Given the description of an element on the screen output the (x, y) to click on. 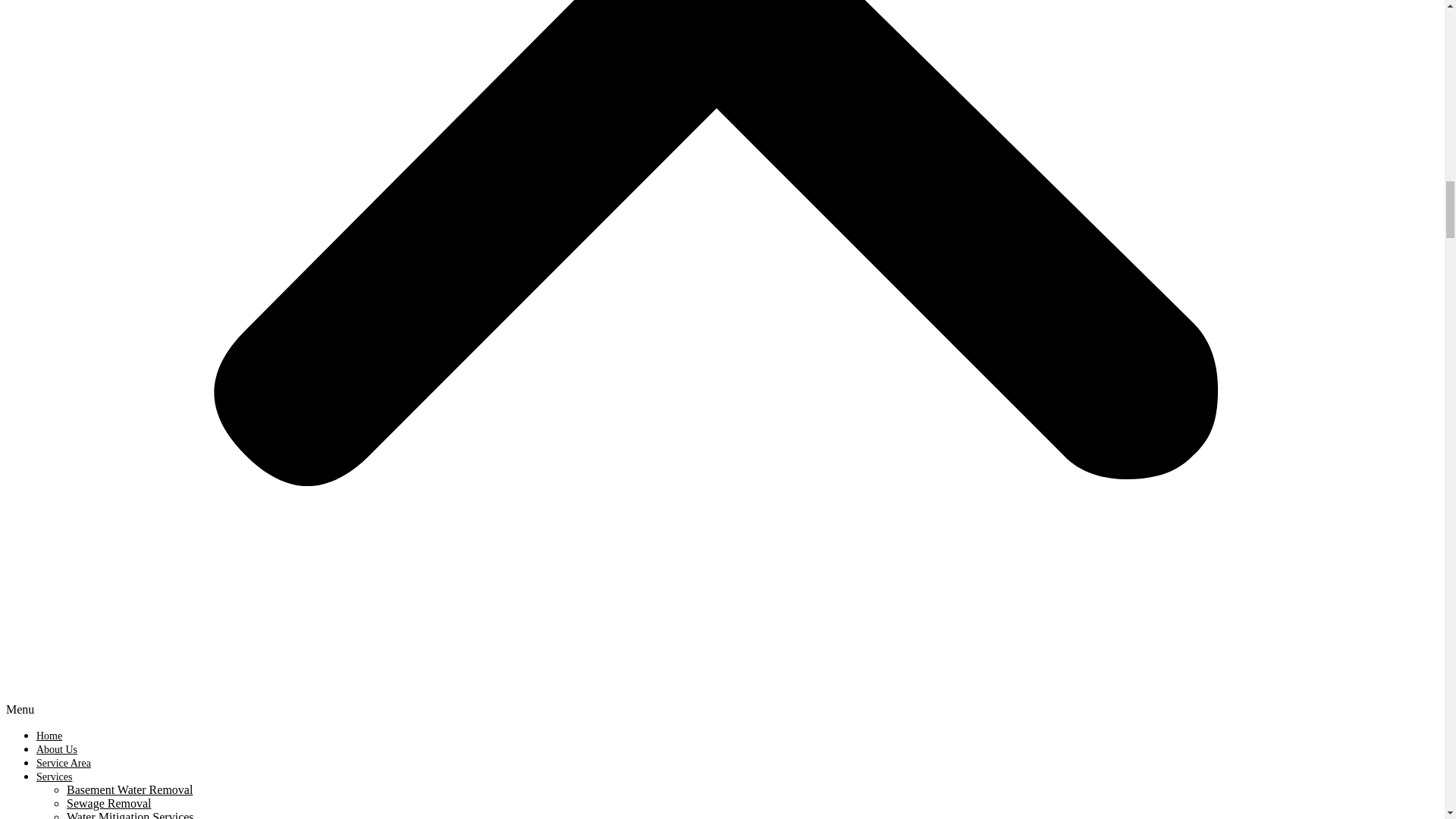
About Us (56, 749)
Service Area (63, 763)
Basement Water Removal (129, 789)
Water Mitigation Services (129, 814)
Sewage Removal (108, 802)
Services (53, 776)
Home (49, 736)
